Given the description of an element on the screen output the (x, y) to click on. 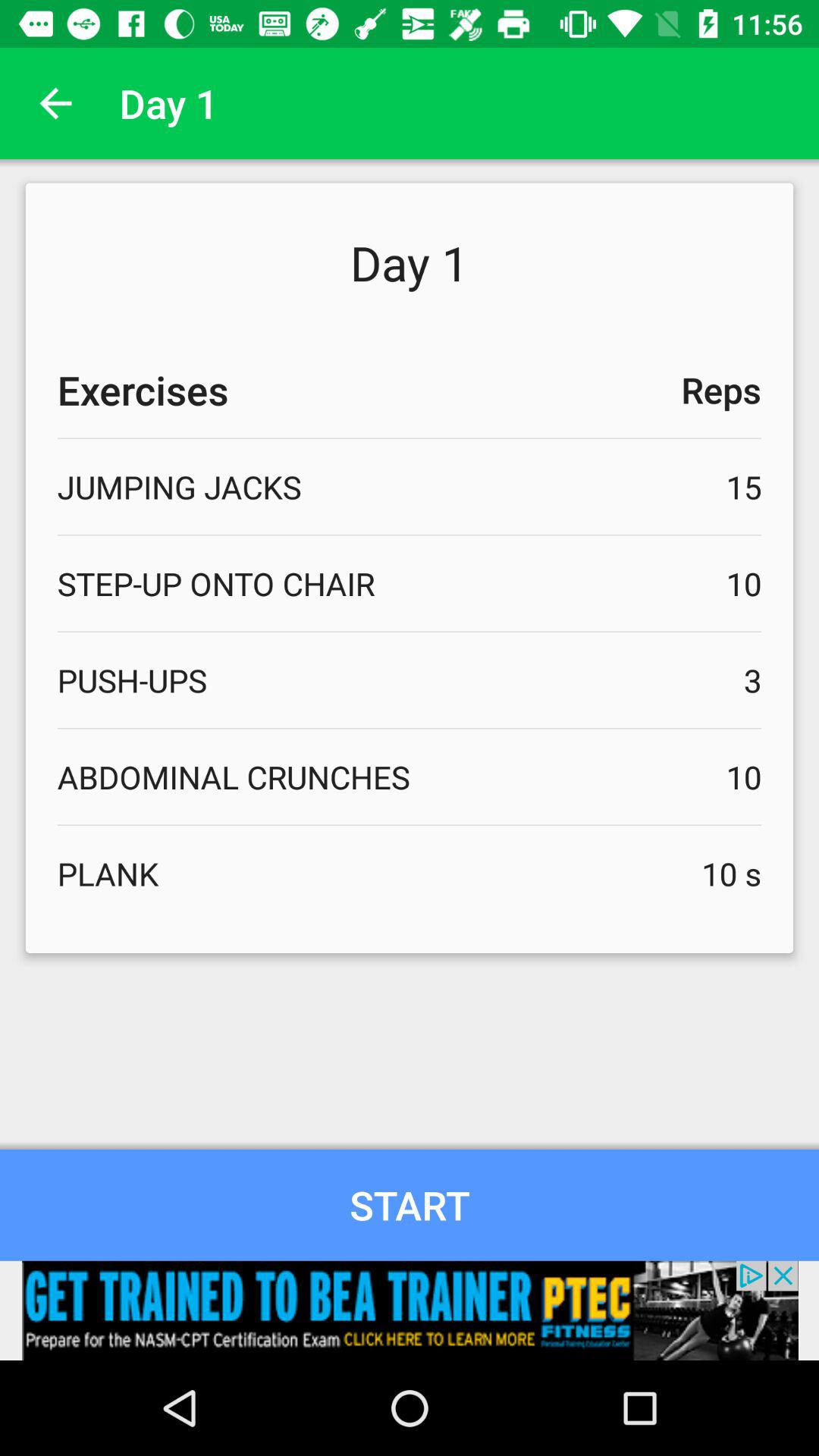
start workout (409, 1204)
